Given the description of an element on the screen output the (x, y) to click on. 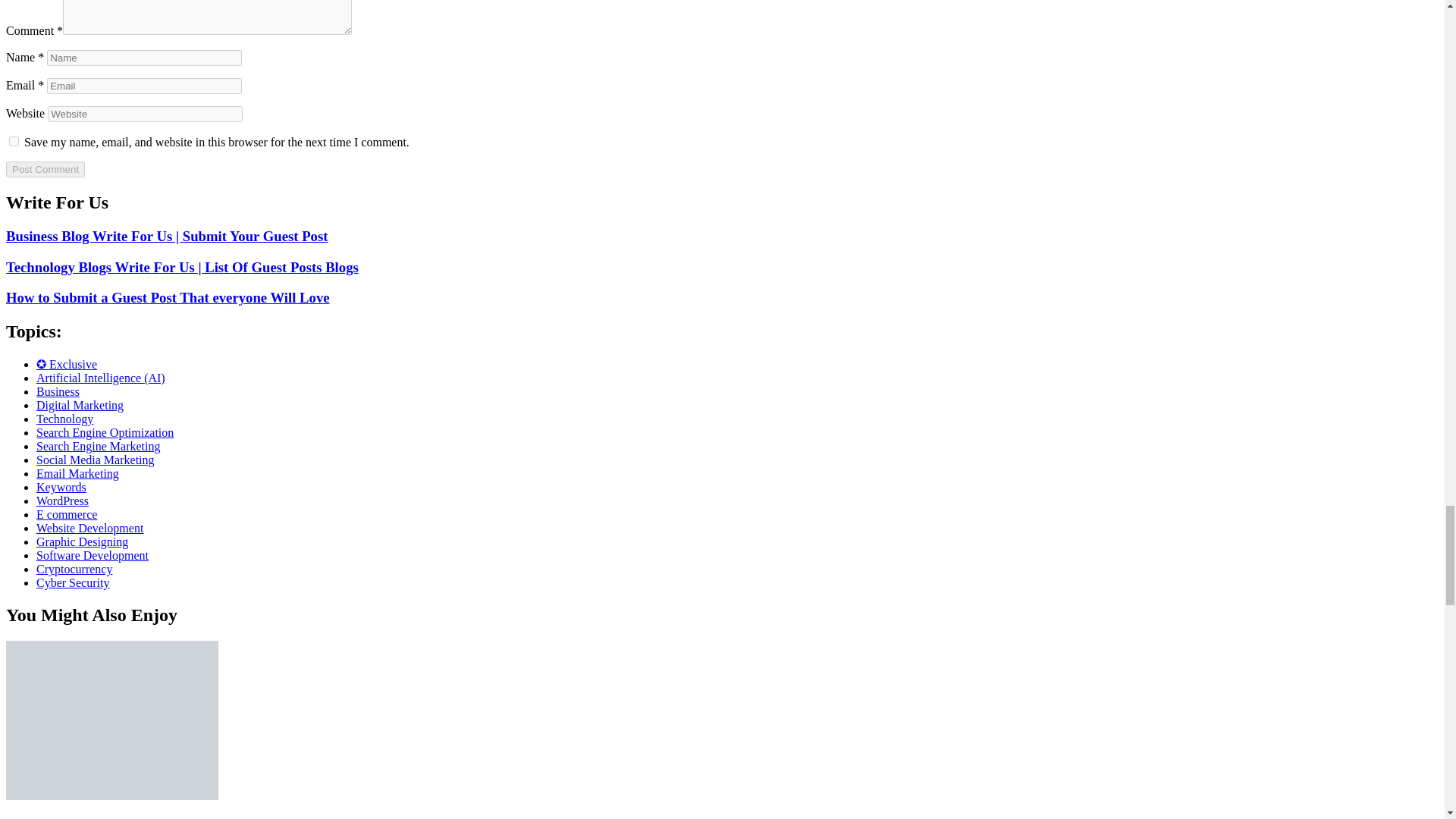
yes (13, 141)
Post Comment (44, 169)
